Given the description of an element on the screen output the (x, y) to click on. 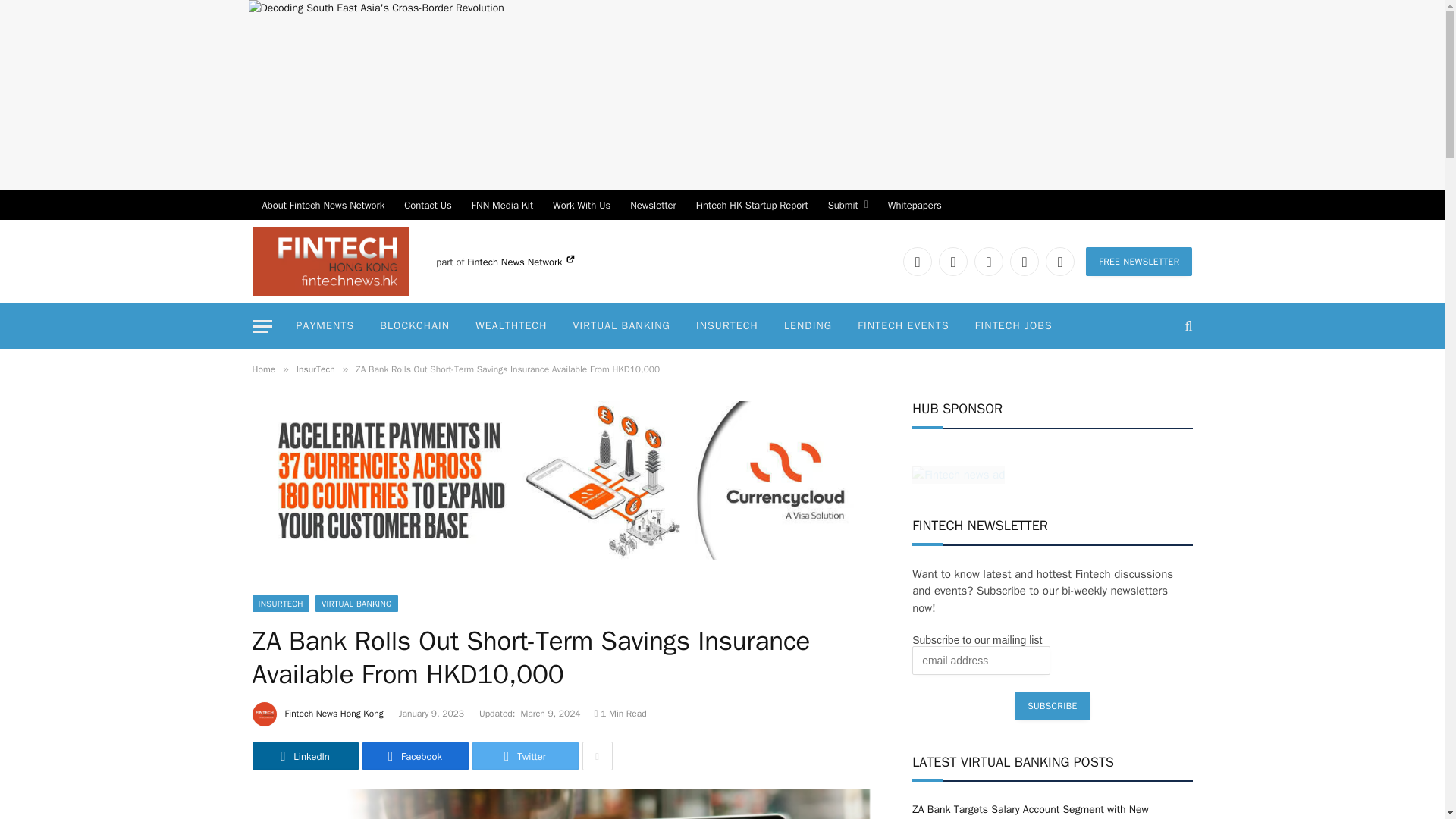
Show More Social Sharing (597, 756)
Posts by Fintech News Hong Kong (334, 713)
Fintech Hong Kong (330, 261)
Submit (847, 204)
Subscribe (1051, 705)
LinkedIn (916, 261)
YouTube (1024, 261)
Fintech News Network (520, 261)
Share on Facebook (415, 756)
Newsletter (652, 204)
Share on LinkedIn (304, 756)
Whitepapers (914, 204)
FNN Media Kit (502, 204)
Contact Us (427, 204)
